Given the description of an element on the screen output the (x, y) to click on. 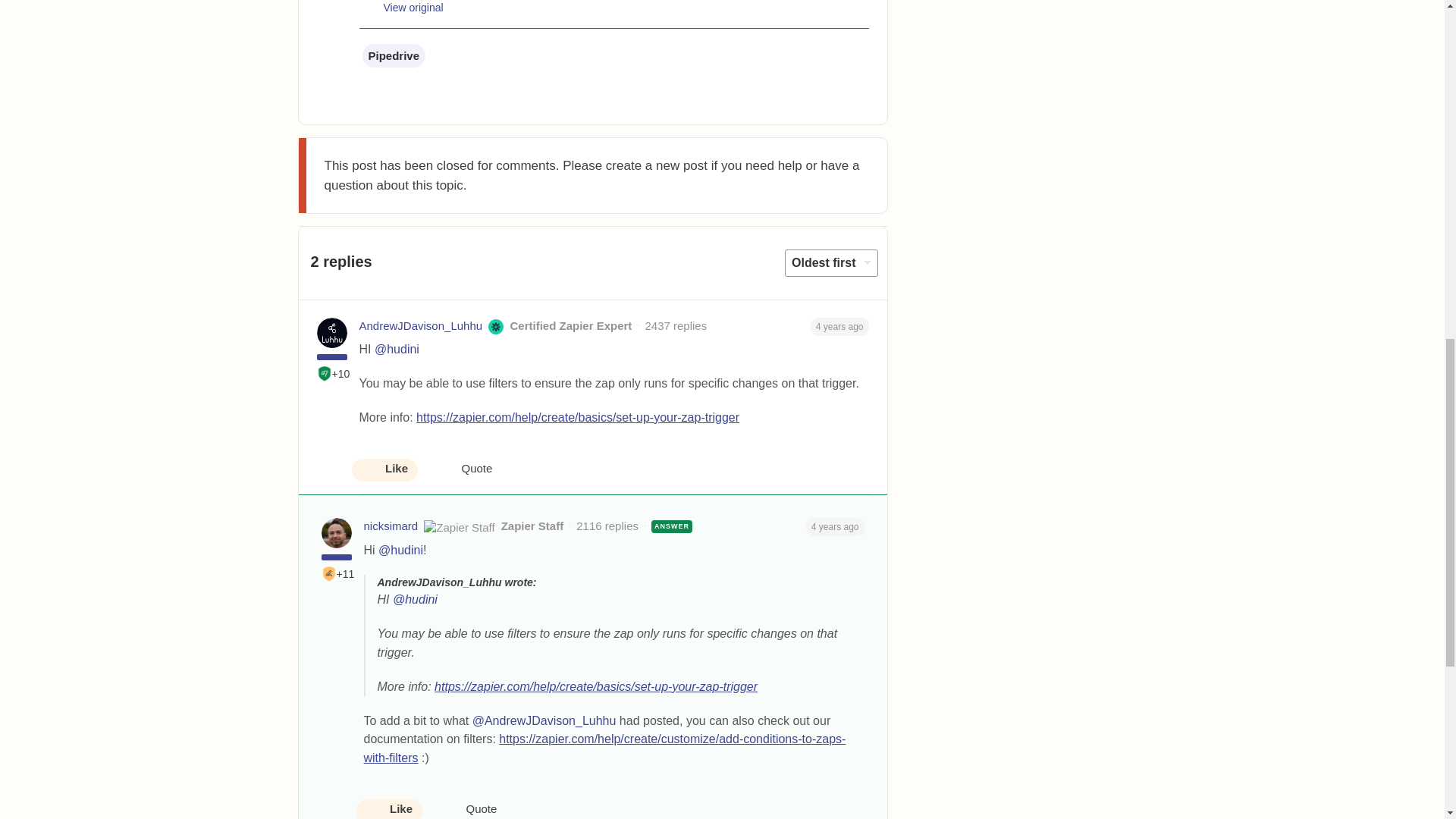
nicksimard (391, 526)
Helpful (324, 373)
First Best Answer (328, 573)
